Given the description of an element on the screen output the (x, y) to click on. 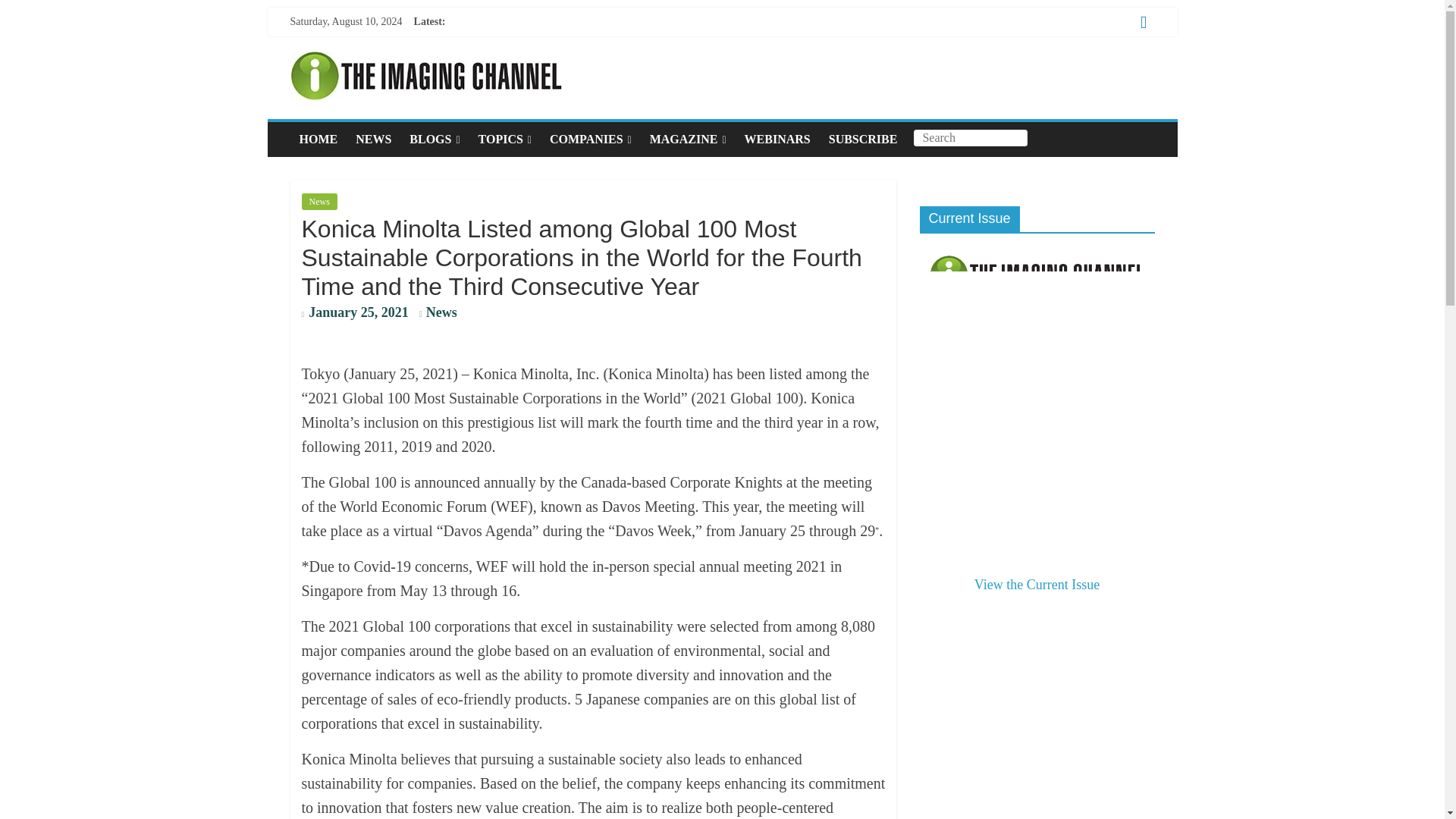
TOPICS (504, 139)
News (441, 312)
HOME (317, 139)
BLOGS (434, 139)
NEWS (373, 139)
COMPANIES (590, 139)
3:21 pm (355, 313)
